Given the description of an element on the screen output the (x, y) to click on. 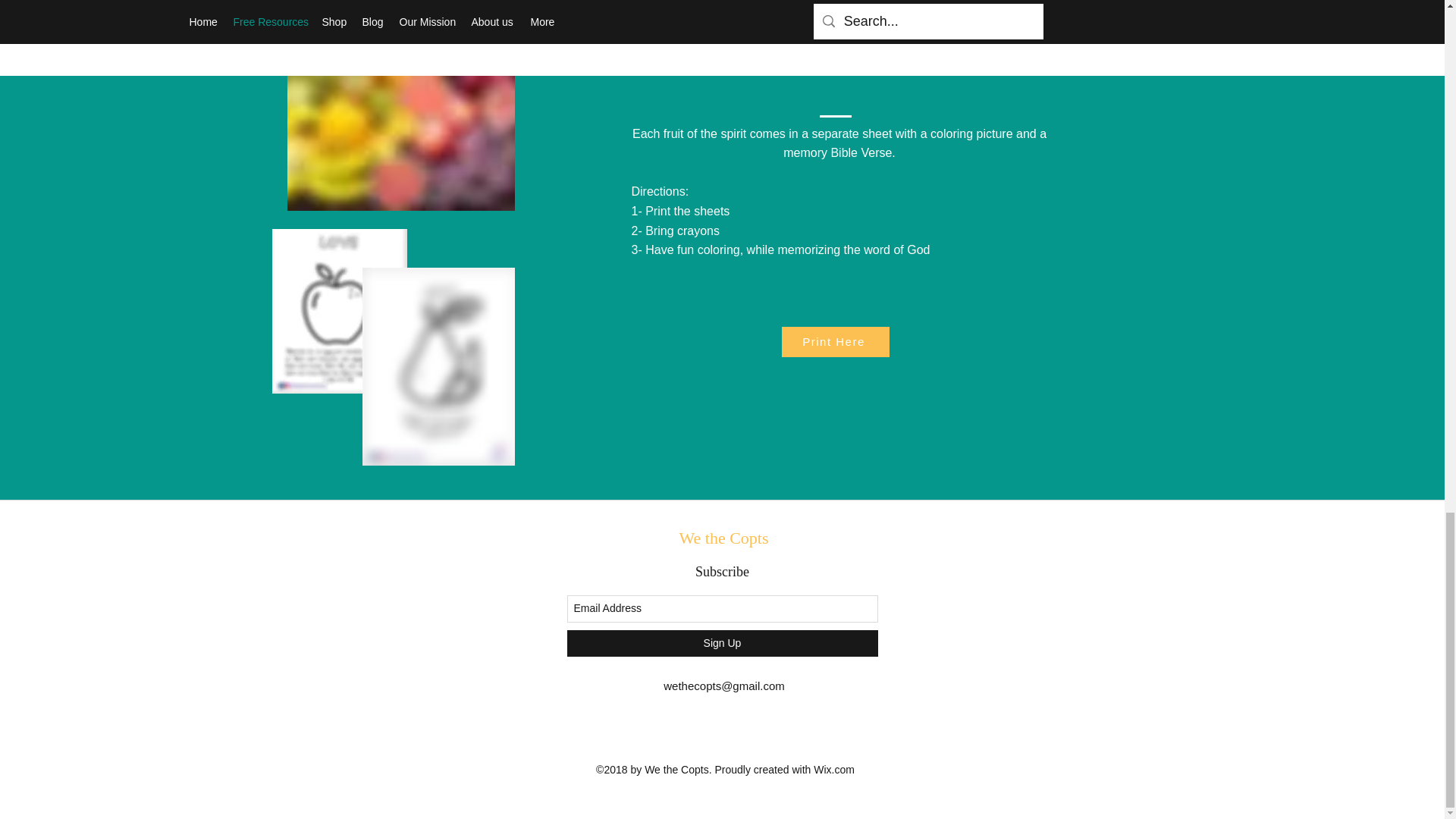
We the Copts (723, 537)
Sign Up (722, 642)
Print Here (834, 341)
